Given the description of an element on the screen output the (x, y) to click on. 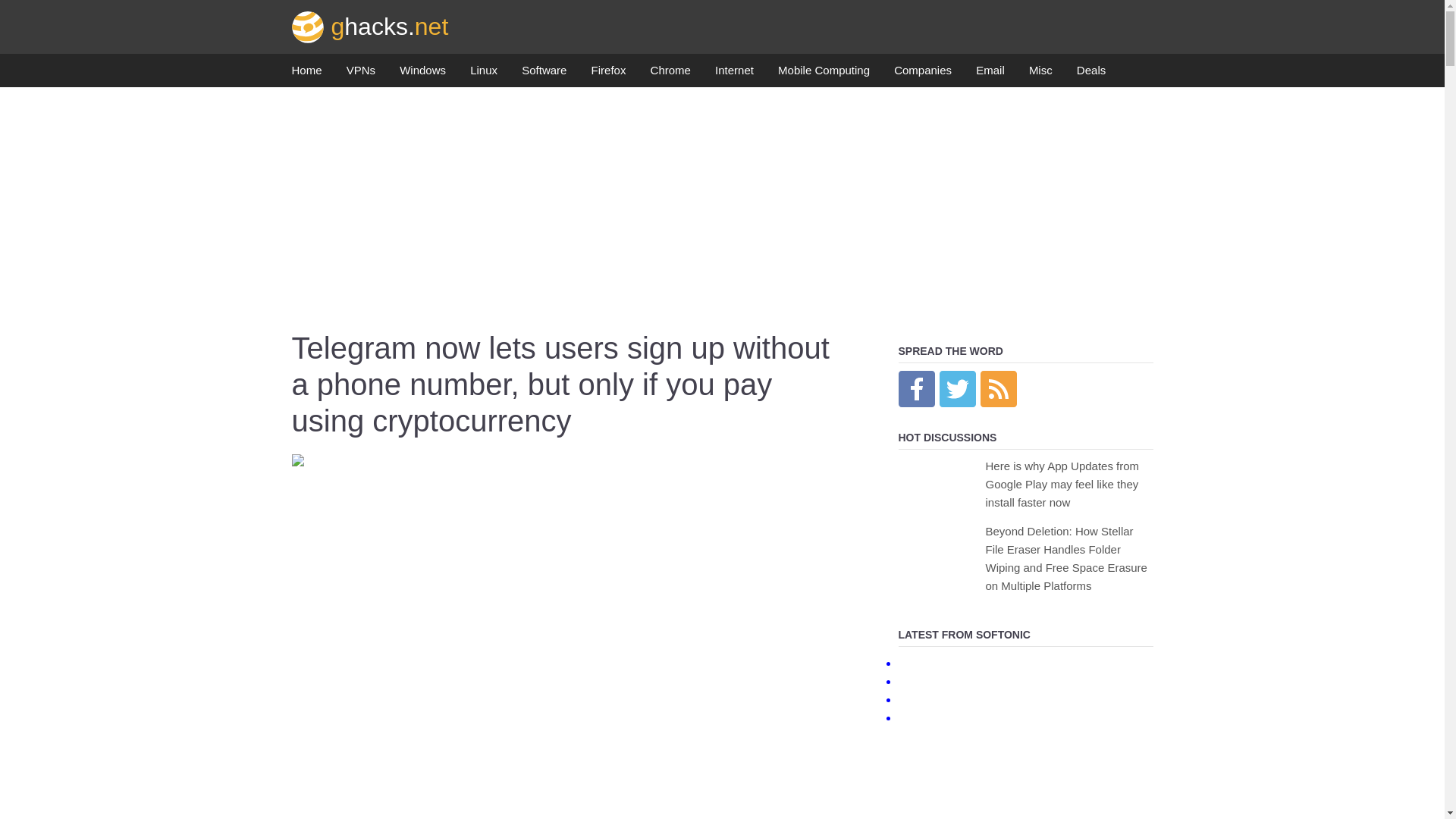
Windows (421, 73)
VPNs (360, 73)
Internet (734, 73)
Deals (1091, 73)
Linux (483, 73)
Mobile Computing (823, 73)
Email (989, 73)
Firefox (608, 73)
Companies (922, 73)
Chrome (670, 73)
